Given the description of an element on the screen output the (x, y) to click on. 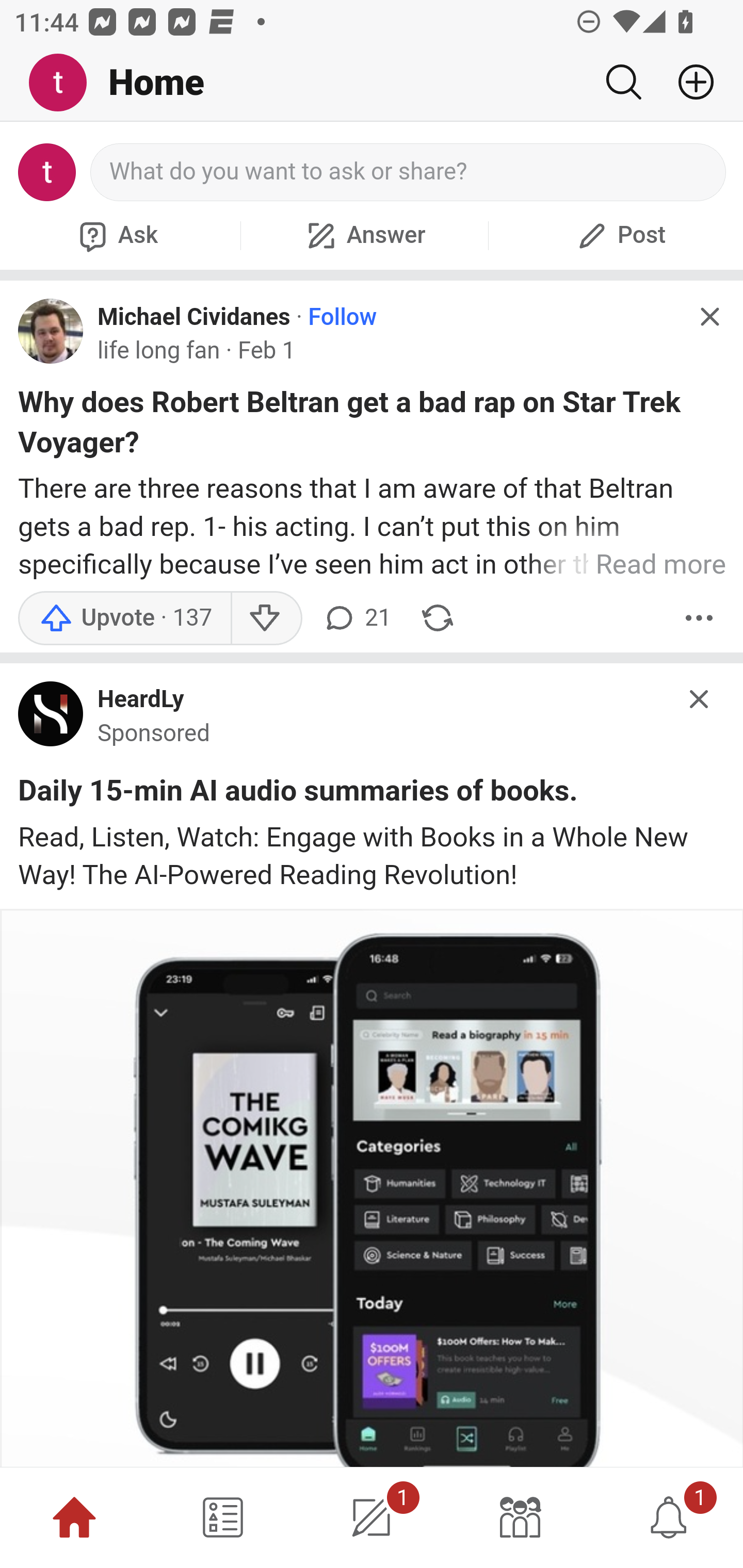
Me (64, 83)
Search (623, 82)
Add (688, 82)
What do you want to ask or share? (408, 172)
Ask (116, 234)
Answer (364, 234)
Post (618, 234)
Hide (709, 316)
Profile photo for Michael Cividanes (50, 330)
Michael Cividanes (193, 316)
Follow (341, 316)
Upvote (124, 617)
Downvote (266, 617)
21 comments (356, 617)
Share (437, 617)
More (699, 617)
Hide (699, 699)
main-qimg-3f9e799c9a45d10c5fedda254b48a14b (50, 717)
HeardLy (141, 700)
Daily 15-min AI audio summaries of books. (297, 794)
1 (371, 1517)
1 (668, 1517)
